Given the description of an element on the screen output the (x, y) to click on. 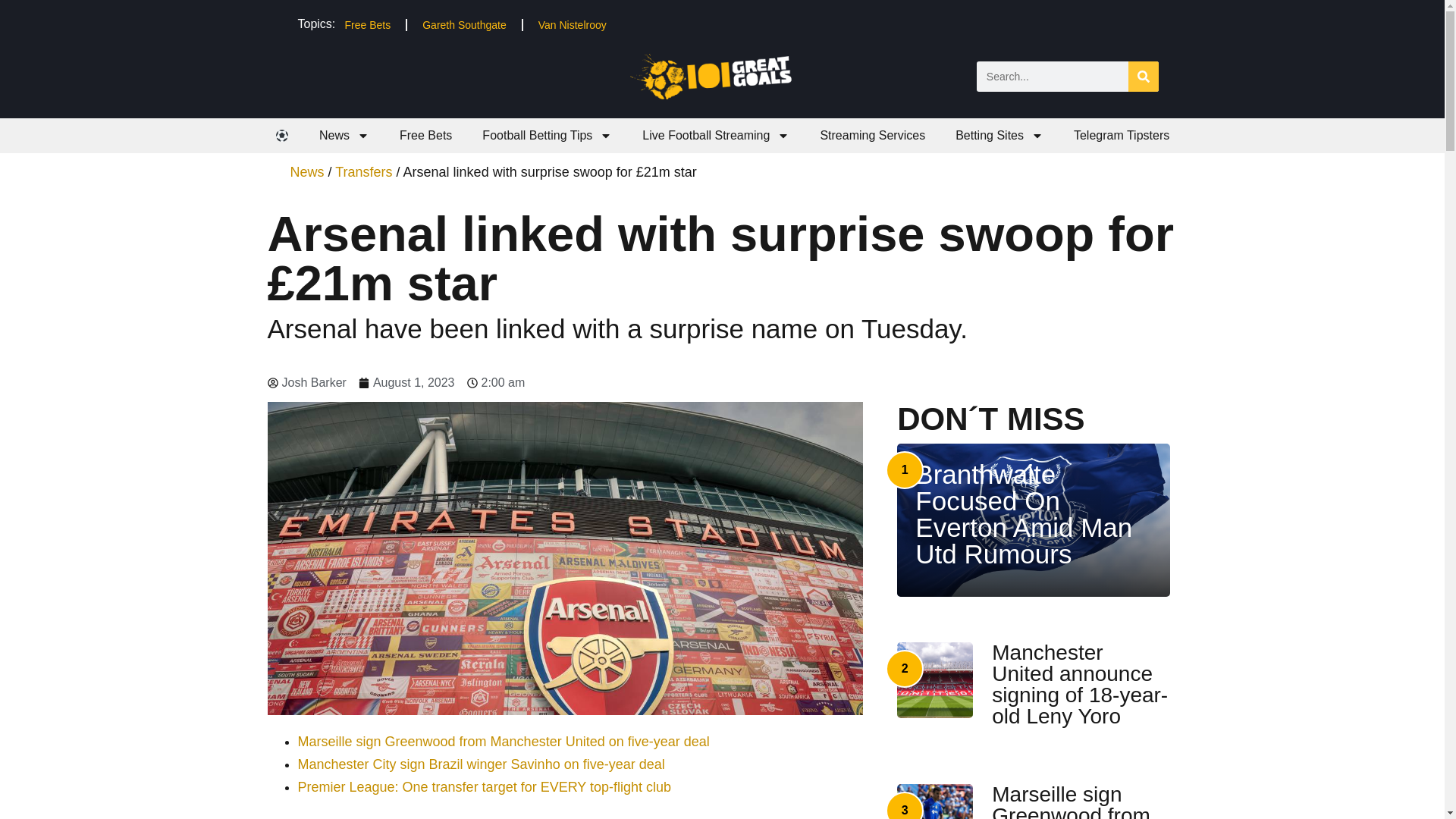
Streaming Services (872, 135)
Free Bets (367, 24)
Free Bets (425, 135)
Football Betting Tips (547, 135)
Betting Sites (999, 135)
Van Nistelrooy (571, 24)
Gareth Southgate (464, 24)
News (344, 135)
Live Football Streaming (716, 135)
